Given the description of an element on the screen output the (x, y) to click on. 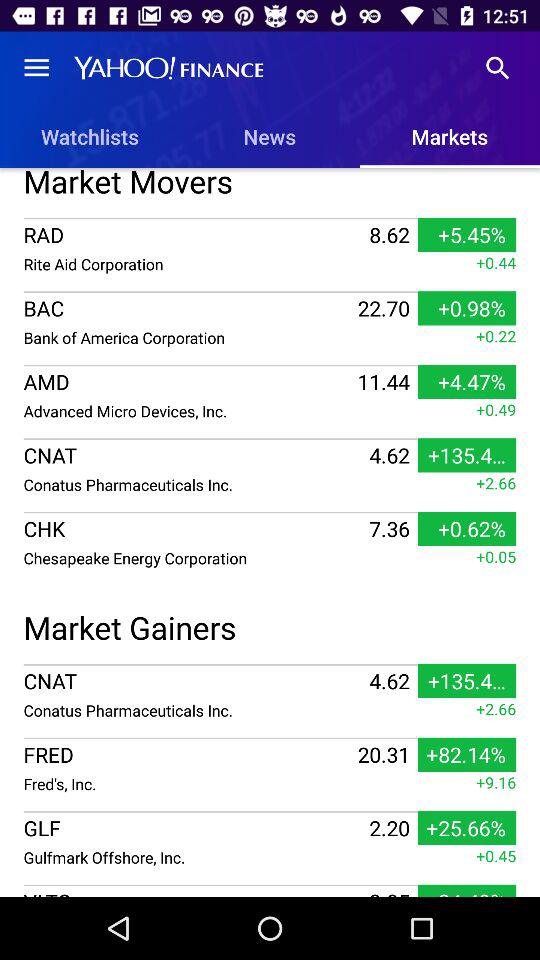
choose item below the +82.14% item (496, 782)
